Given the description of an element on the screen output the (x, y) to click on. 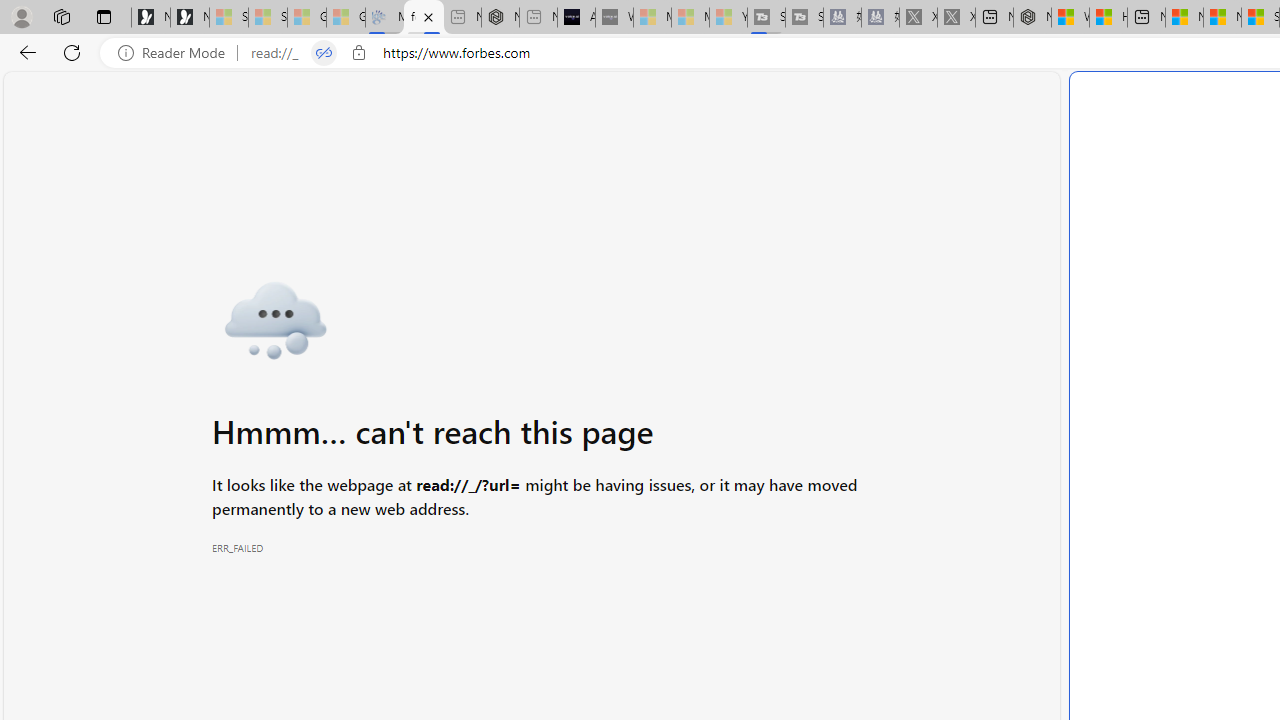
AI Voice Changer for PC and Mac - Voice.ai (576, 17)
Microsoft Start Sports - Sleeping (651, 17)
Reader Mode (177, 53)
Tabs in split screen (323, 53)
